Given the description of an element on the screen output the (x, y) to click on. 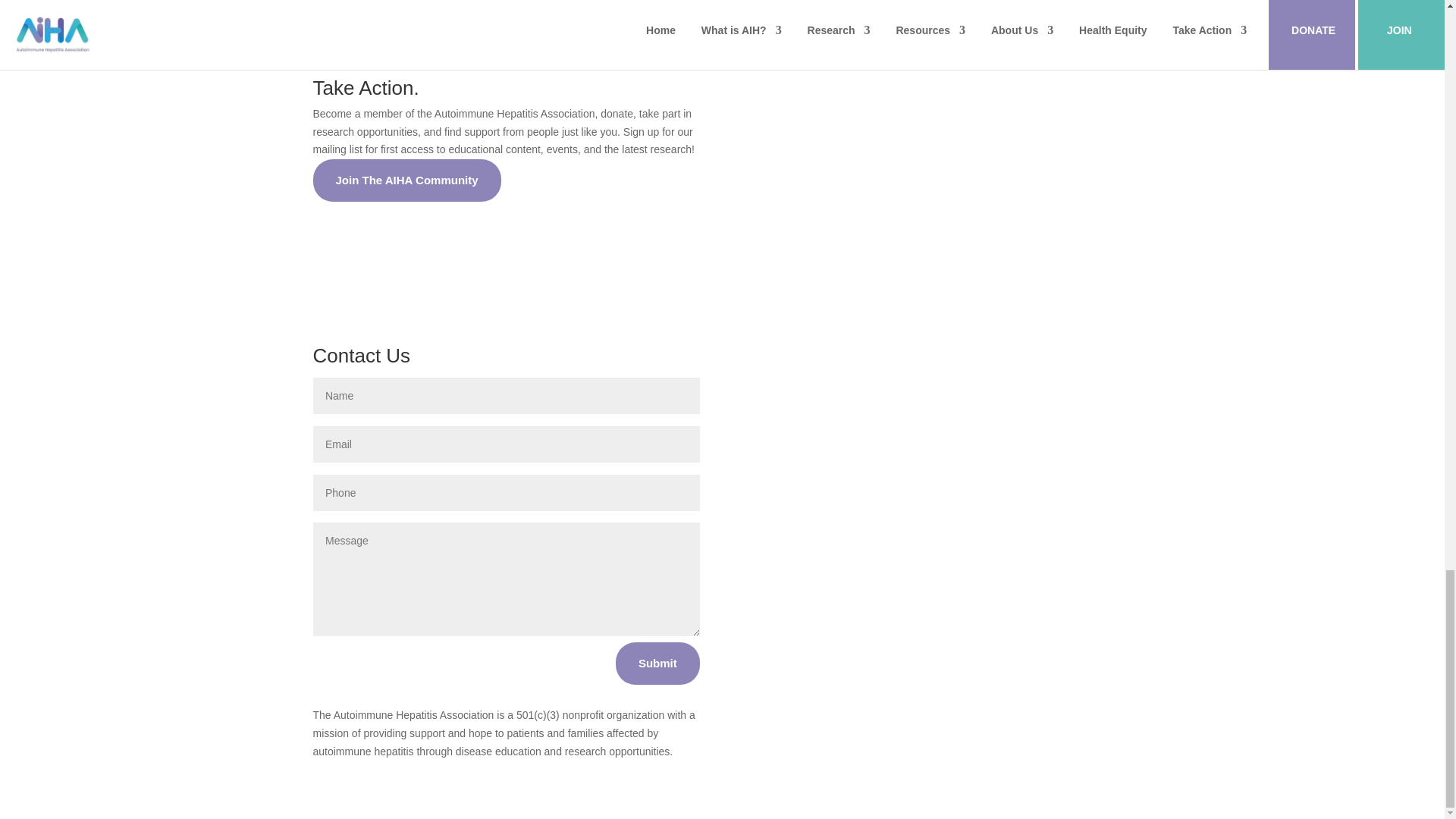
Follow on X (855, 544)
Follow on Instagram (1082, 544)
Follow on Facebook (779, 544)
Follow on LinkedIn (930, 544)
Follow on Youtube (1006, 544)
